Given the description of an element on the screen output the (x, y) to click on. 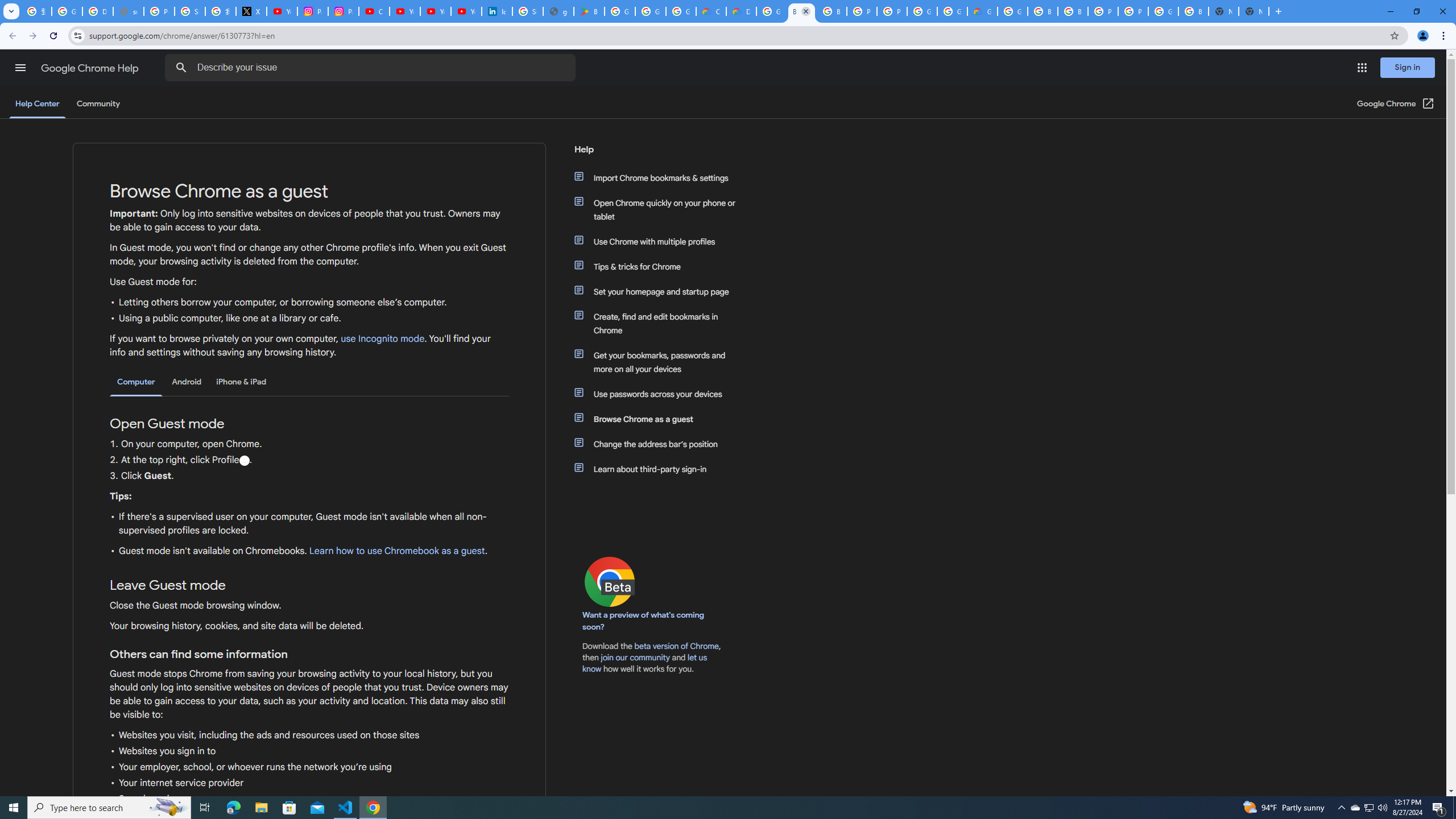
Browse Chrome as a guest - Computer - Google Chrome Help (1042, 11)
iPhone & iPad (240, 381)
Import Chrome bookmarks & settings (661, 177)
Set your homepage and startup page (661, 291)
join our community (634, 657)
Use Chrome with multiple profiles (661, 241)
